Given the description of an element on the screen output the (x, y) to click on. 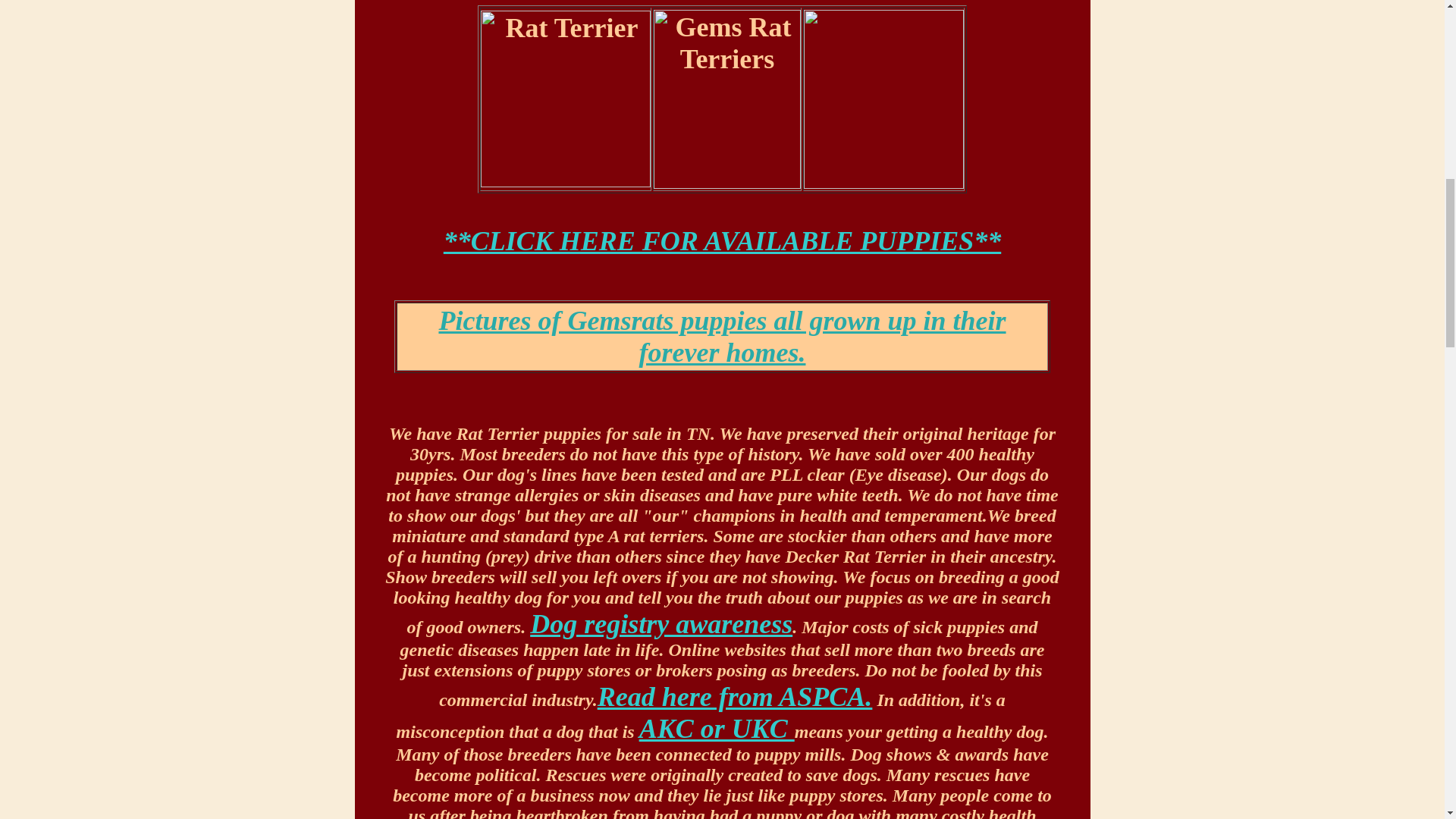
Rat terriers (722, 336)
Read here from ASPCA. (734, 696)
AKC or UKC (716, 728)
Dog registry awareness (660, 624)
